Given the description of an element on the screen output the (x, y) to click on. 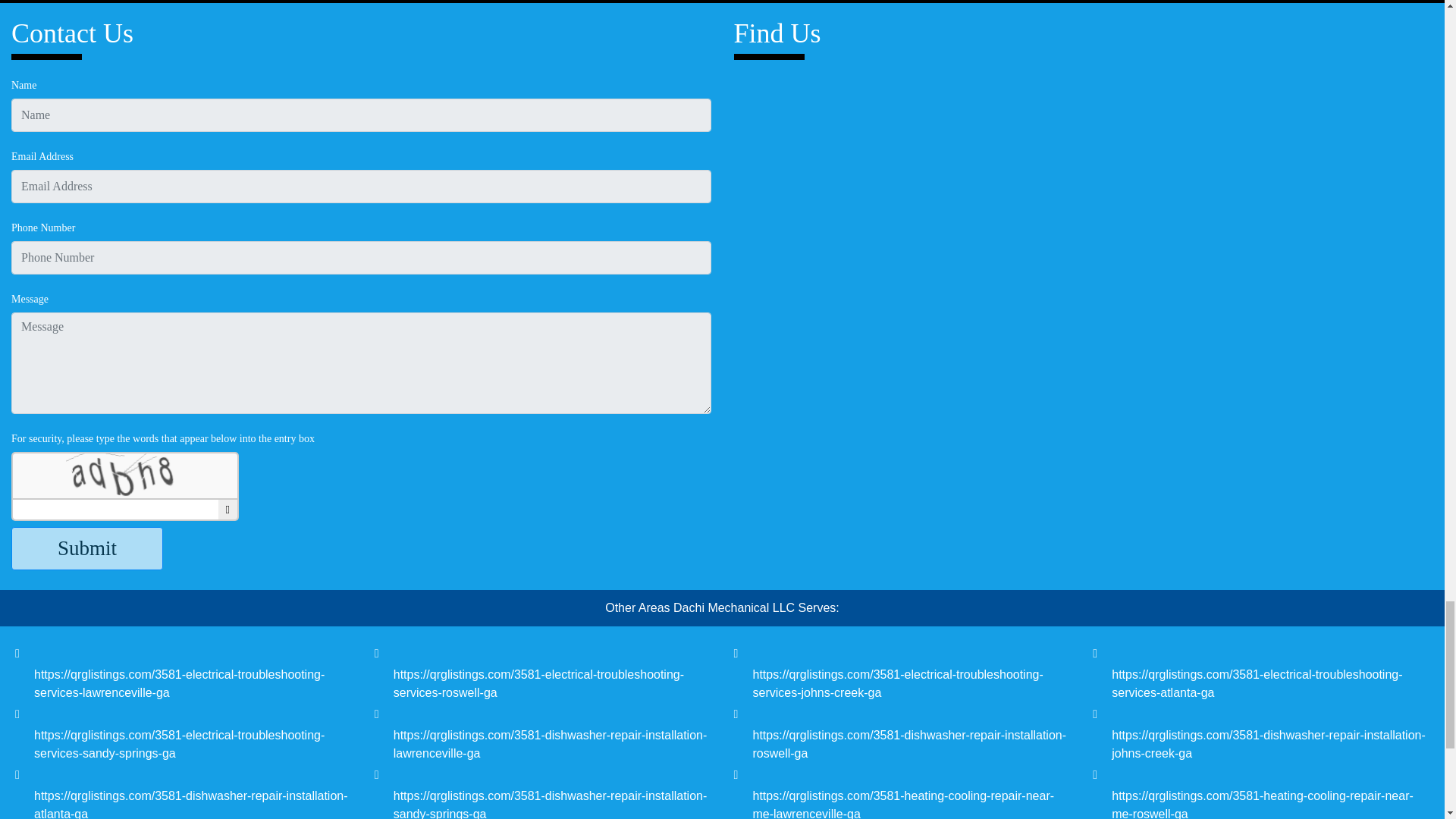
Submit (87, 548)
